Given the description of an element on the screen output the (x, y) to click on. 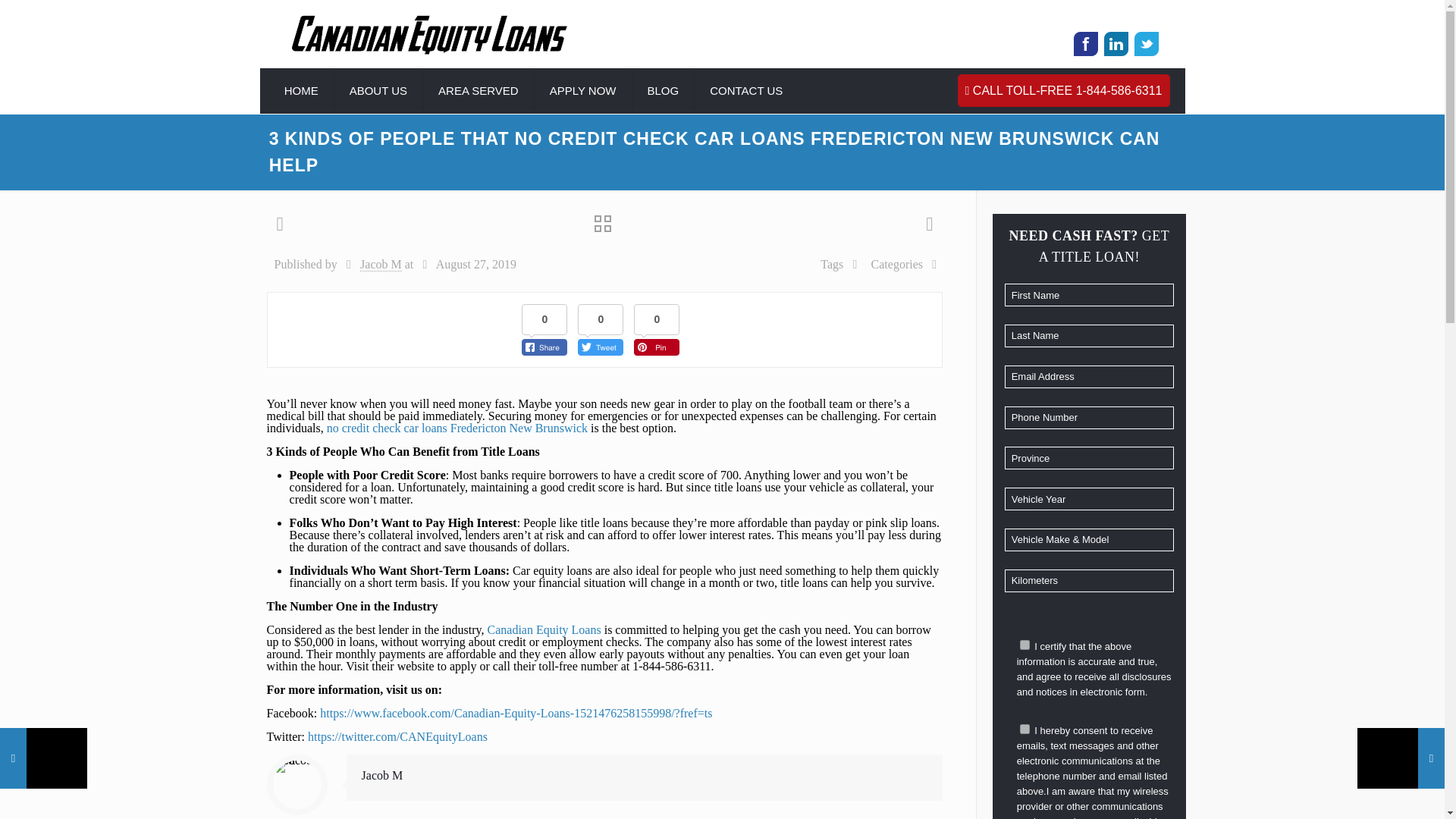
Canadian Equity Loans (542, 629)
APPLY NOW (582, 90)
Jacob M (380, 264)
CALL TOLL-FREE 1-844-586-6311 (1064, 90)
BLOG (663, 90)
HOME (301, 90)
ABOUT US (378, 90)
Canadian Equity Loans (429, 33)
no credit check car loans Fredericton New Brunswick (457, 427)
Jacob M (382, 775)
CONTACT US (745, 90)
AREA SERVED (478, 90)
